Given the description of an element on the screen output the (x, y) to click on. 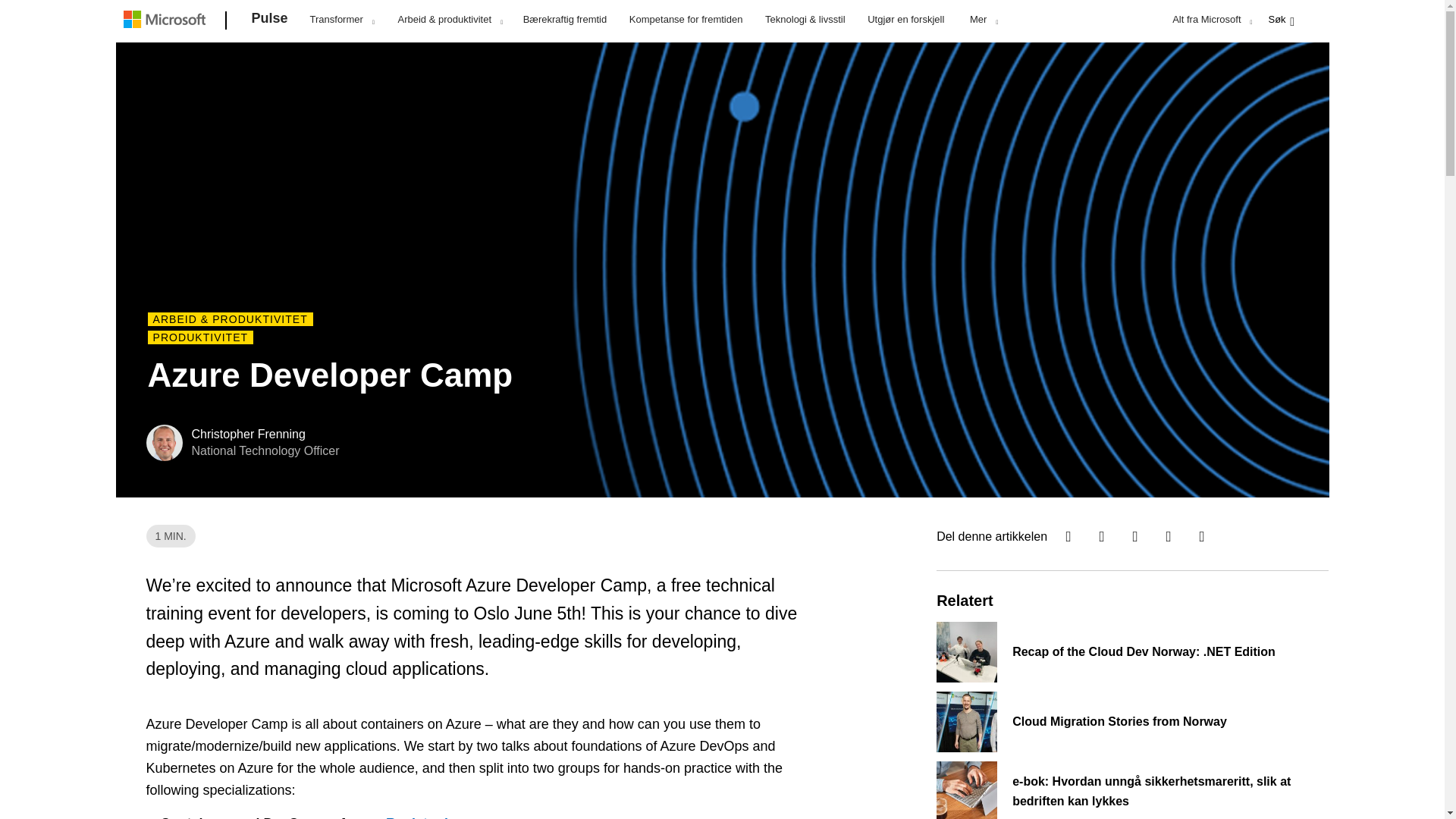
Mer (983, 18)
Cloud Migration Stories from Norway (1117, 721)
Microsoft (167, 20)
Kompetanse for fremtiden (686, 18)
Transformer (342, 18)
Christopher Frenning (246, 443)
Pulse (269, 20)
Produktivitet (200, 336)
Recap of the Cloud Dev Norway: .NET Edition (1117, 651)
